Given the description of an element on the screen output the (x, y) to click on. 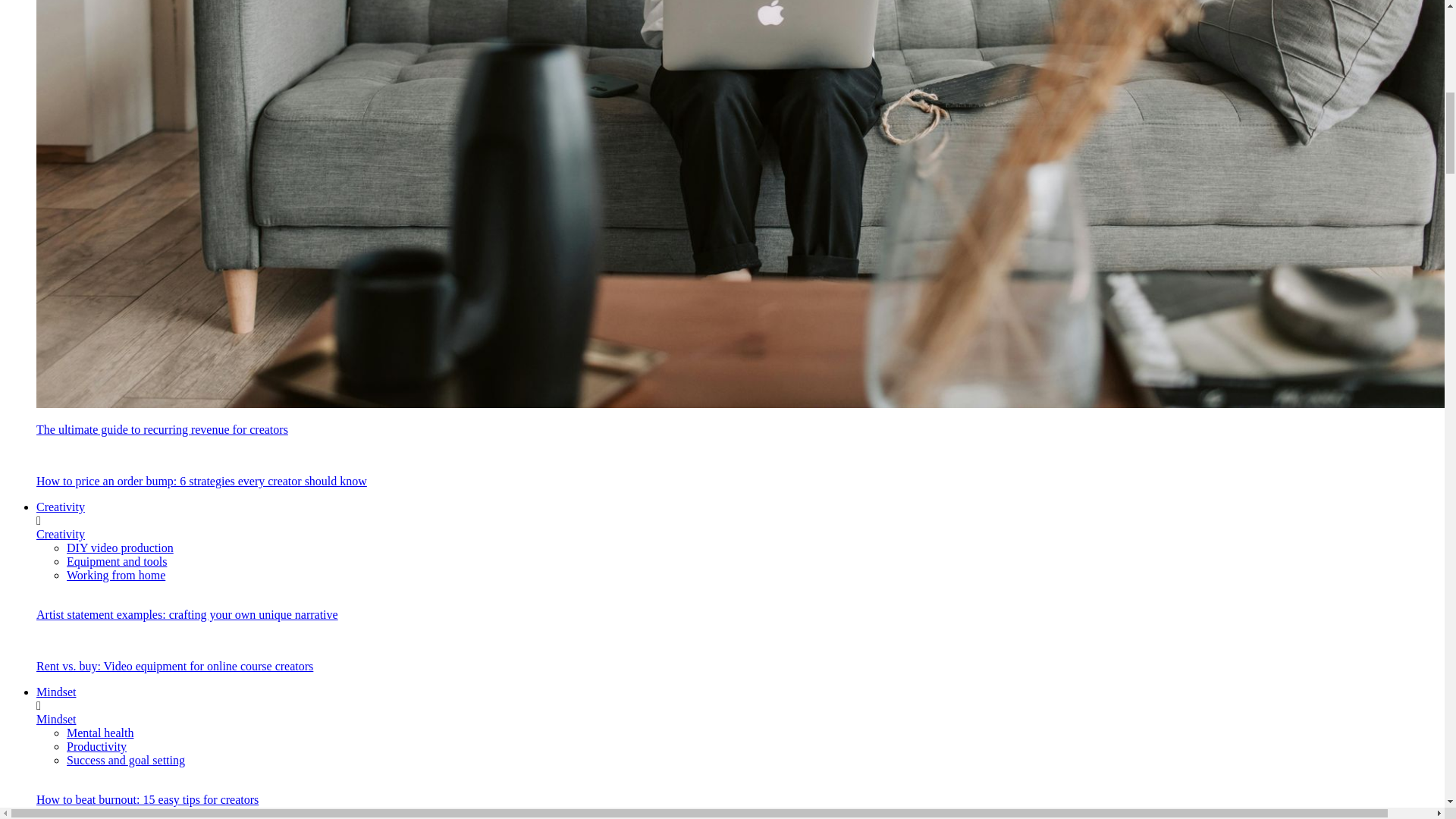
Creativity (60, 506)
Mental health (99, 732)
DIY video production (119, 547)
Creativity (60, 533)
Mindset (55, 718)
Equipment and tools (116, 561)
Mindset (55, 691)
Working from home (115, 574)
Productivity (96, 746)
Success and goal setting (125, 759)
